Given the description of an element on the screen output the (x, y) to click on. 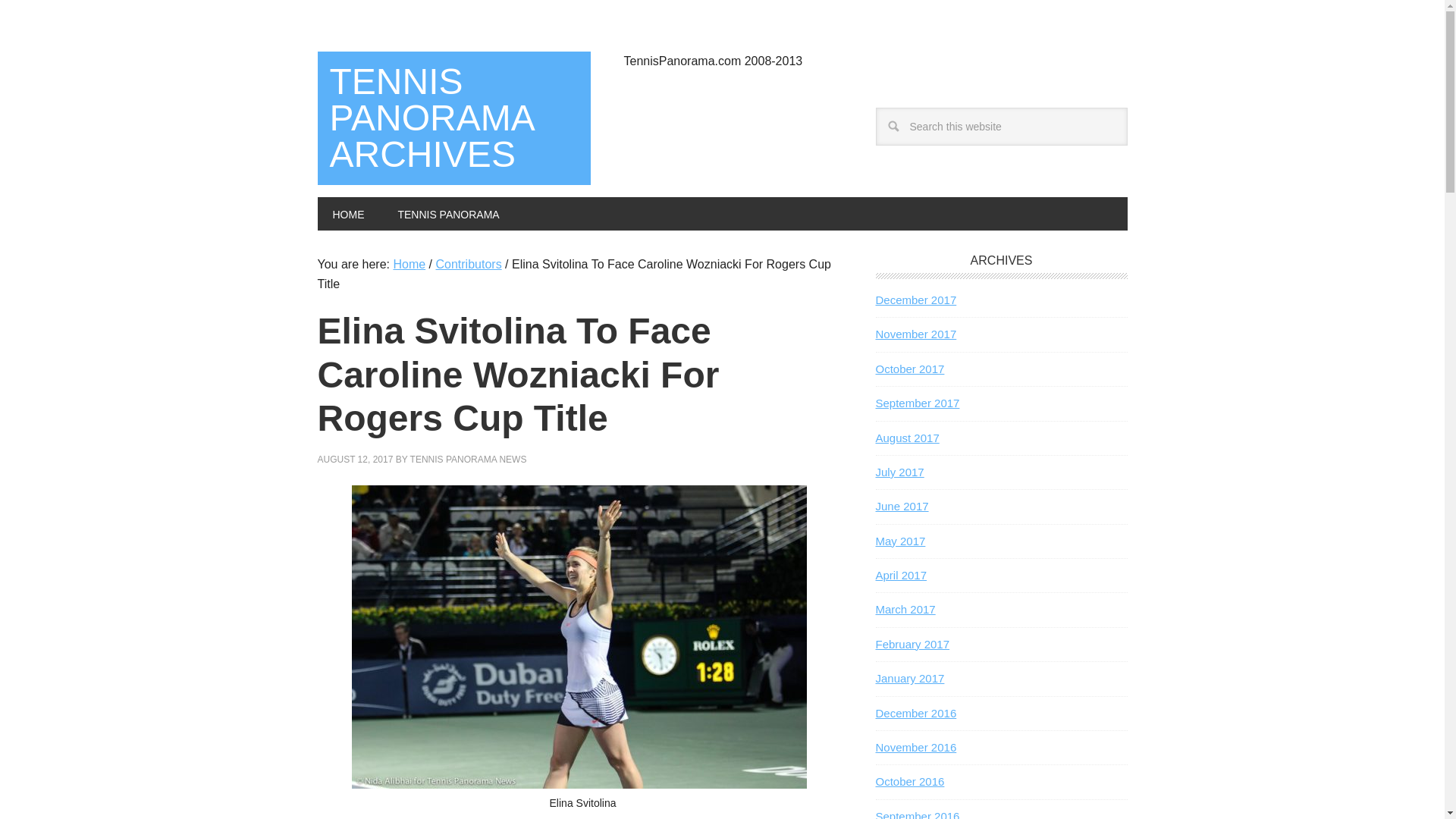
HOME (347, 213)
Contributors (467, 264)
March 2017 (904, 608)
July 2017 (899, 472)
September 2017 (917, 402)
TENNIS PANORAMA NEWS (468, 459)
April 2017 (900, 574)
August 2017 (907, 436)
